Given the description of an element on the screen output the (x, y) to click on. 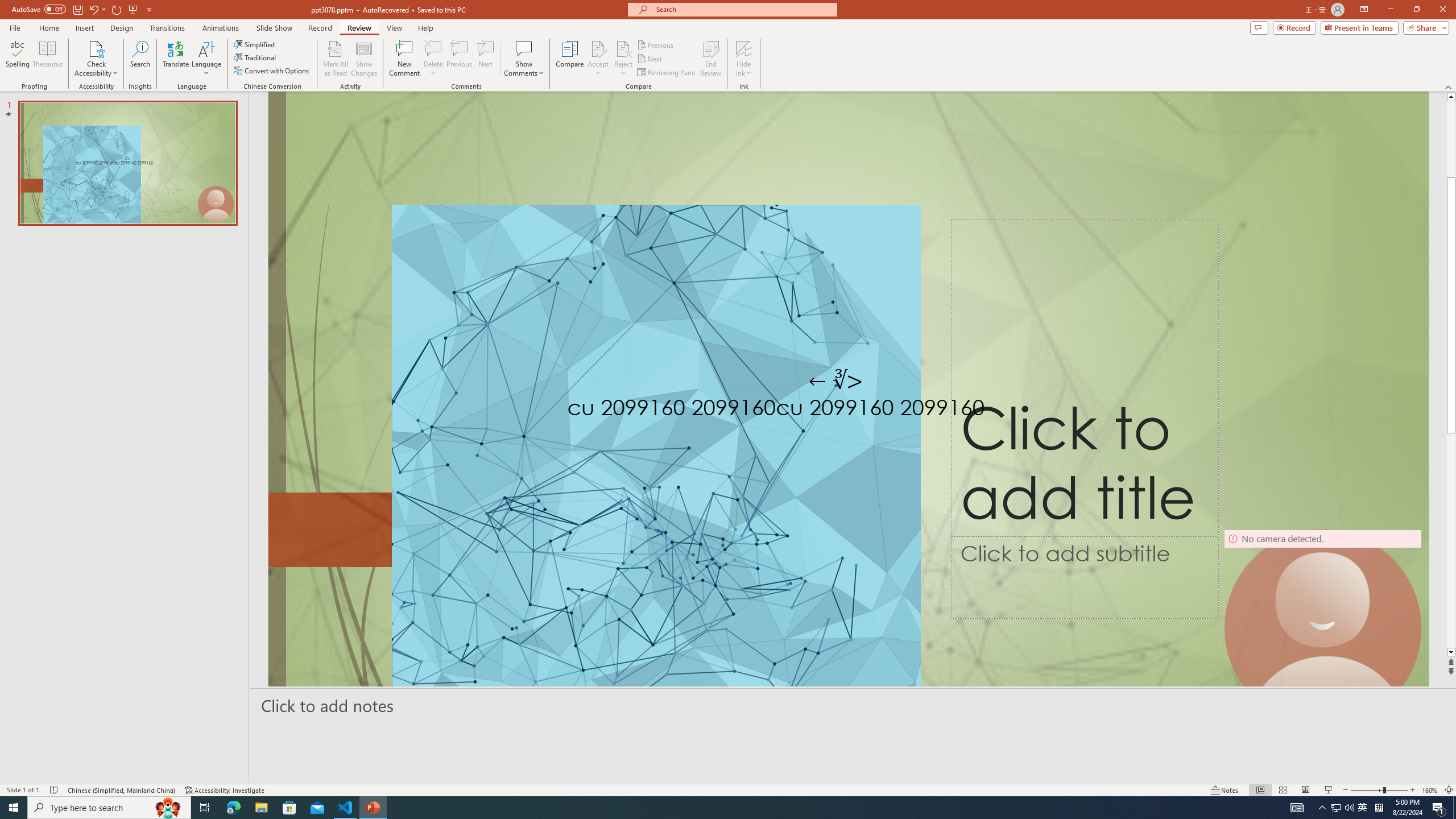
Show Comments (524, 48)
Slide Notes (852, 705)
Hide Ink (743, 48)
Thesaurus... (47, 58)
Language (206, 58)
Show Changes (363, 58)
Check Accessibility (95, 58)
Check Accessibility (95, 48)
